Given the description of an element on the screen output the (x, y) to click on. 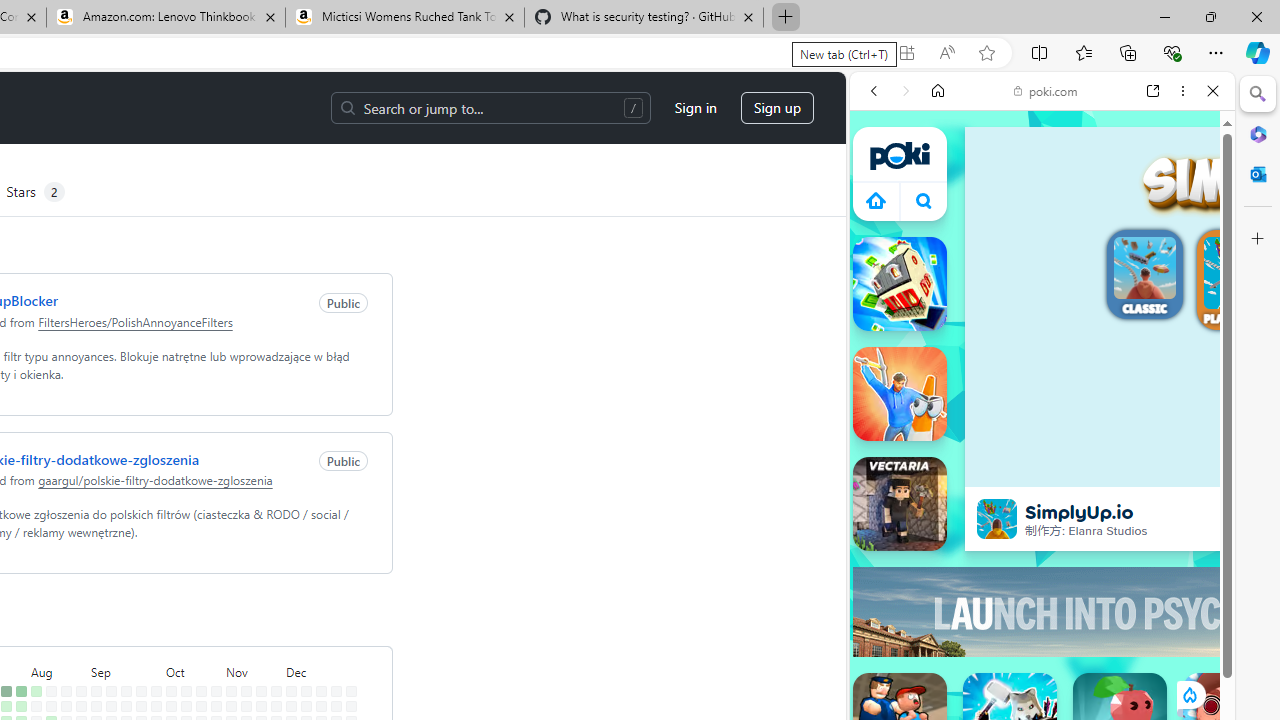
No contributions on October 14th. (186, 706)
No contributions on November 4th. (231, 706)
No contributions on October 28th. (216, 706)
No contributions on December 8th. (306, 691)
No contributions on November 11th. (246, 706)
No contributions on December 9th. (306, 706)
No contributions on October 20th. (201, 691)
Simply Prop Hunt Simply Prop Hunt (899, 393)
Show More Car Games (1164, 472)
Two Player Games (1042, 568)
